Given the description of an element on the screen output the (x, y) to click on. 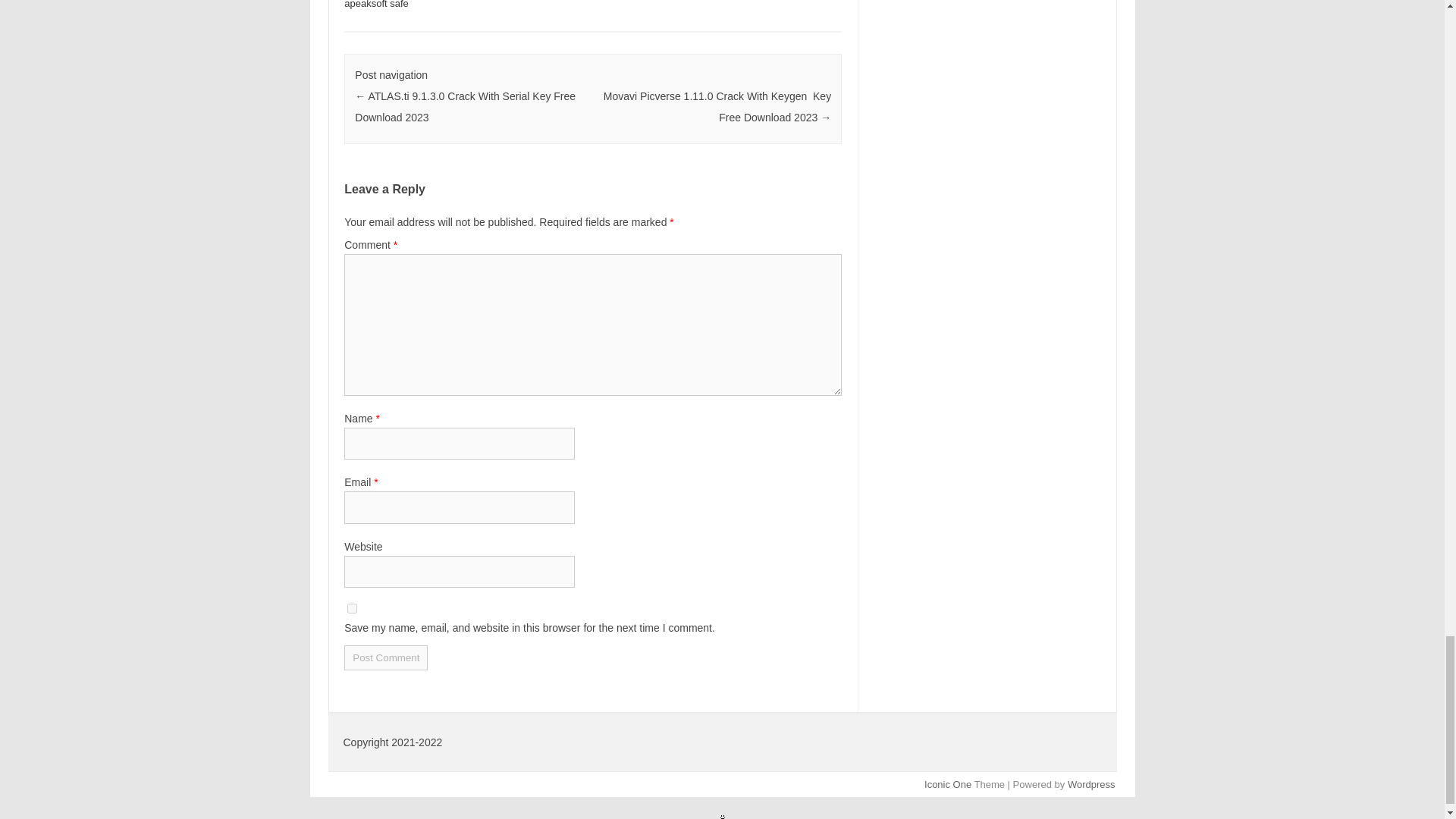
is apeaksoft safe (576, 5)
yes (351, 608)
Post Comment (385, 657)
Post Comment (385, 657)
